Given the description of an element on the screen output the (x, y) to click on. 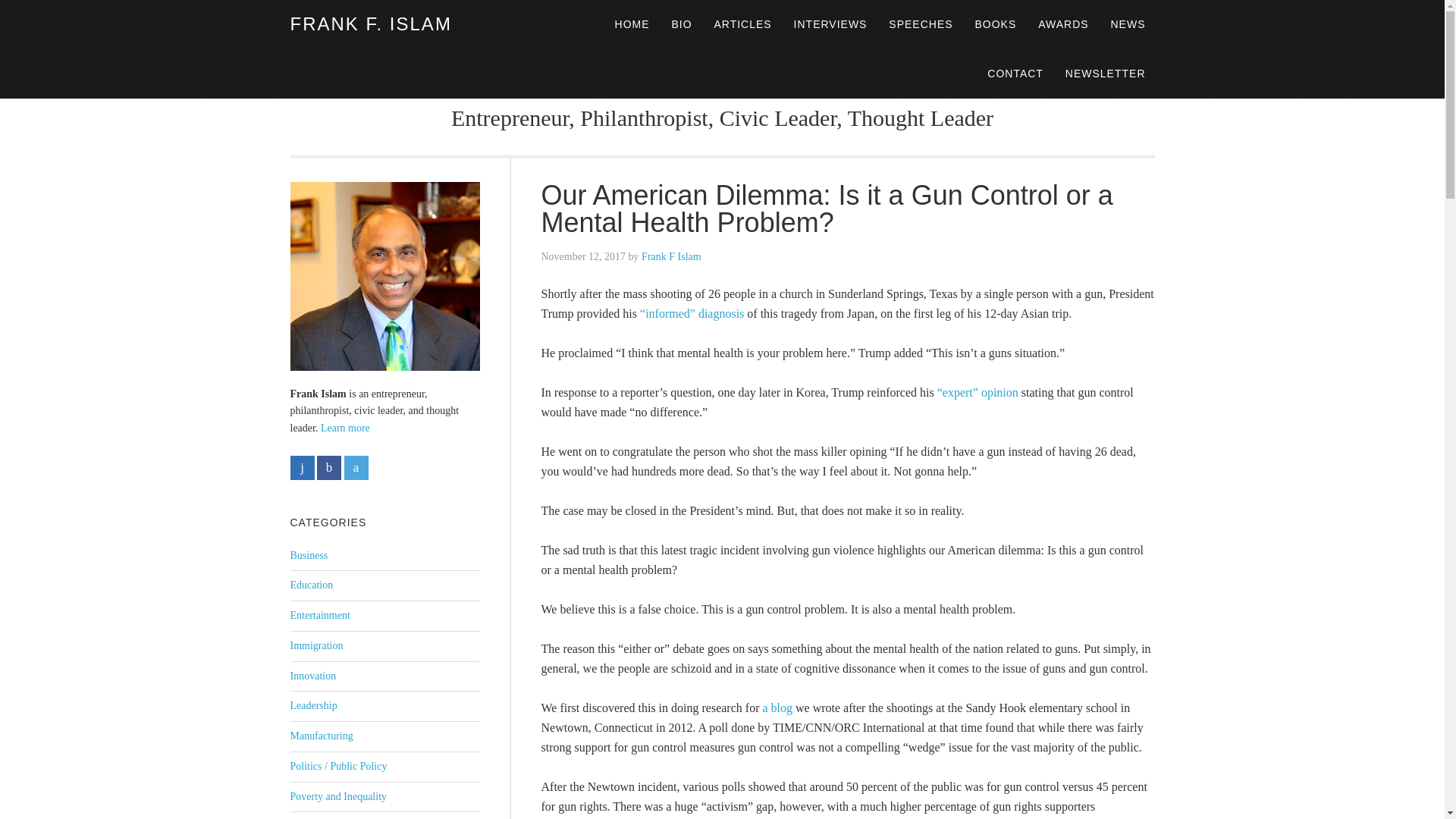
HOME (632, 24)
Immigration (315, 645)
INTERVIEWS (830, 24)
 a blog (775, 707)
AWARDS (1063, 24)
Learn more (344, 428)
Leadership (312, 705)
Education (311, 584)
NEWSLETTER (1105, 73)
FRANK F. ISLAM (370, 23)
